Given the description of an element on the screen output the (x, y) to click on. 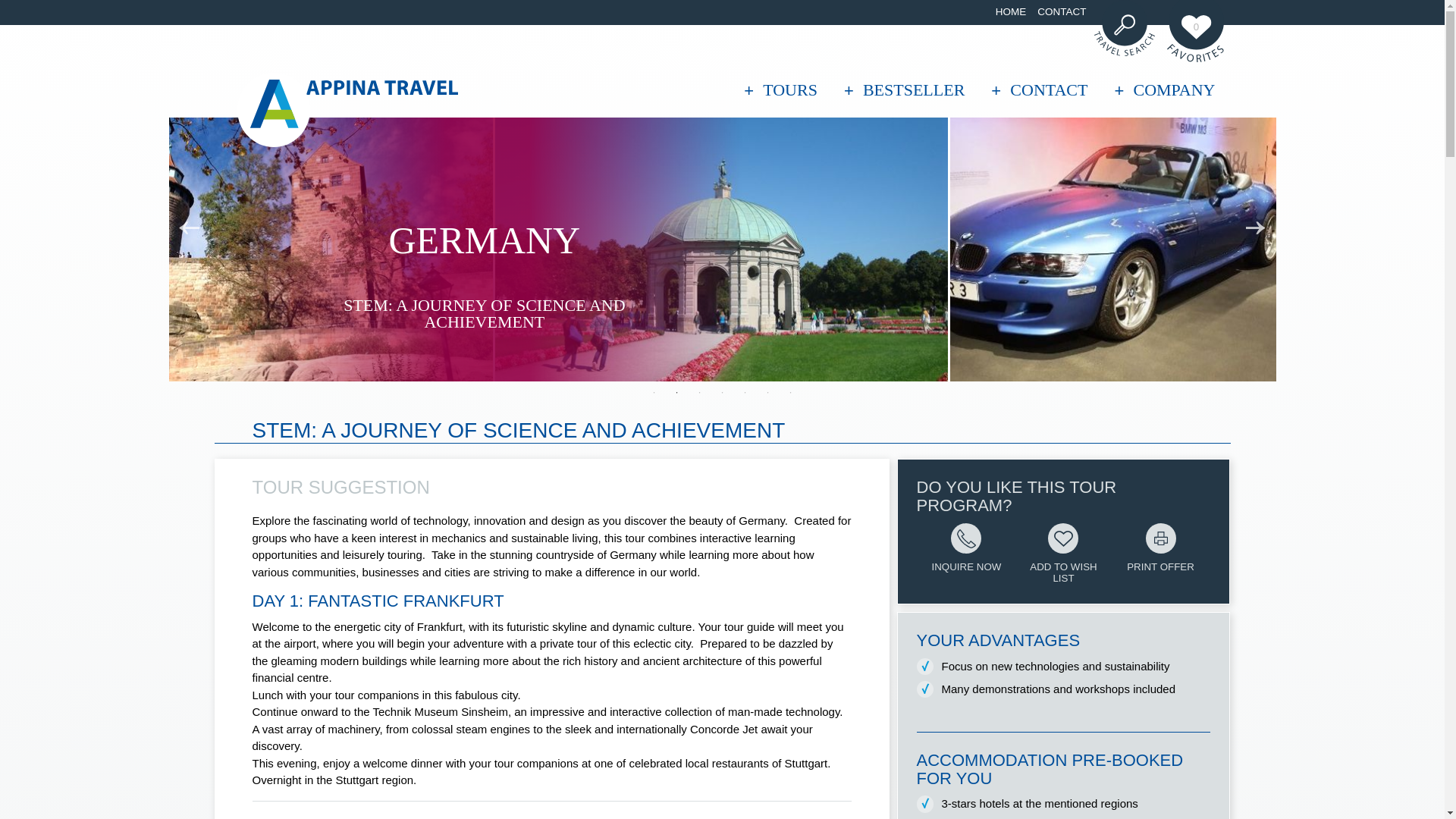
Home (1010, 12)
HOME (1010, 12)
Contact (1061, 12)
CONTACT (1061, 12)
0 (1194, 31)
